Given the description of an element on the screen output the (x, y) to click on. 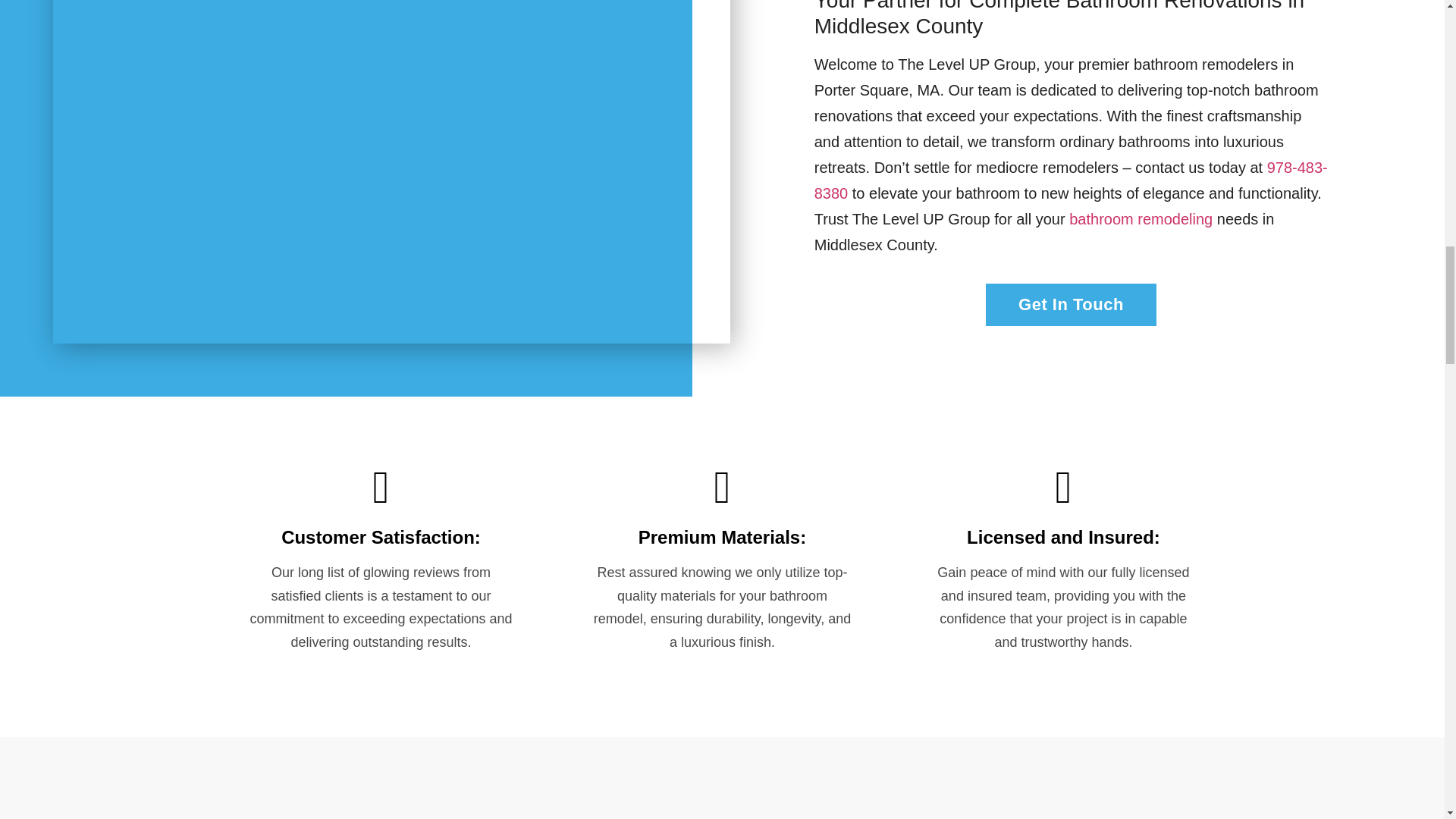
Get In Touch (1070, 304)
Bathroom Remodeling (1140, 218)
bathroom remodeling (1140, 218)
978-483-8380 (1070, 179)
